Given the description of an element on the screen output the (x, y) to click on. 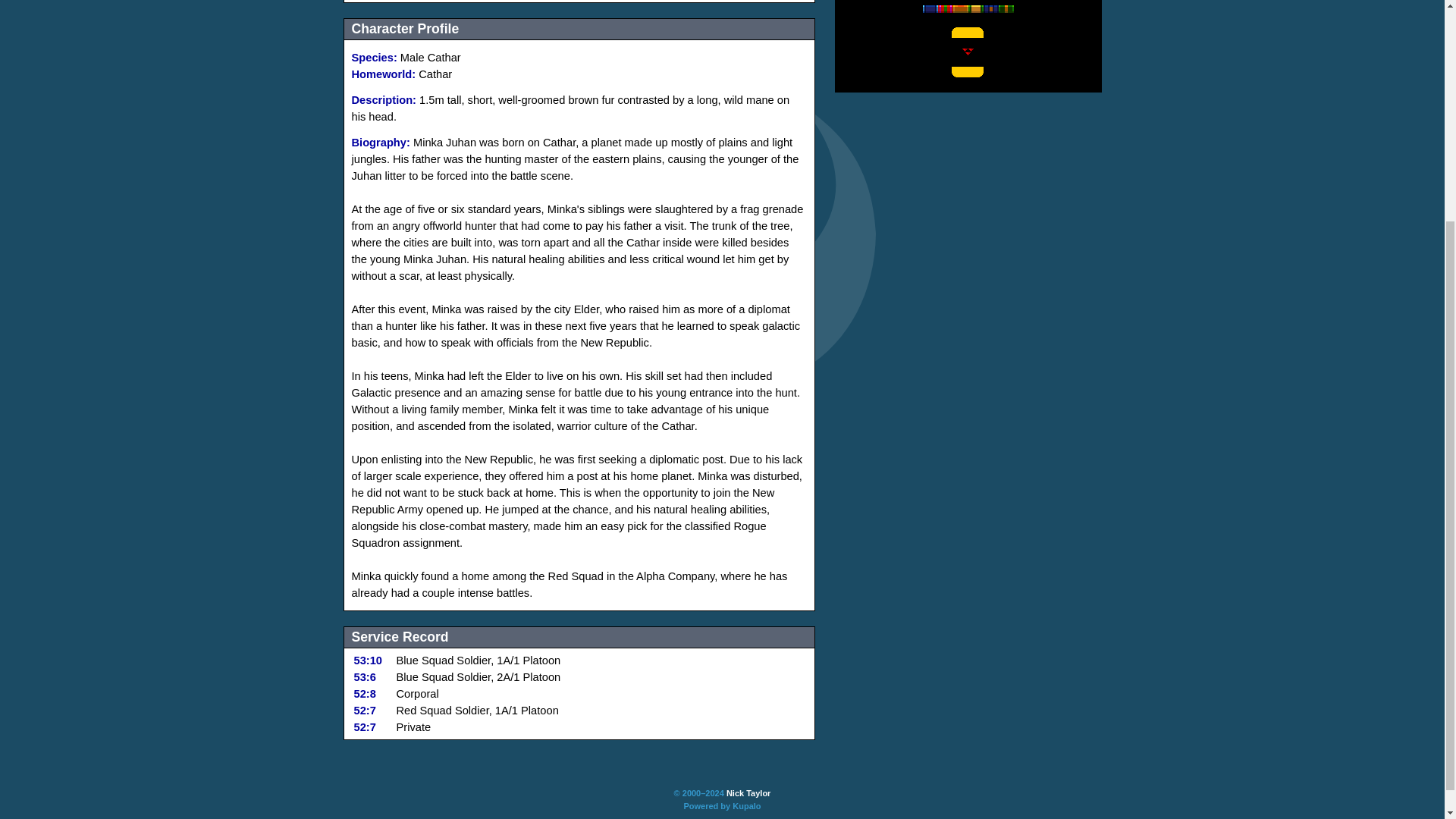
6 Commendations (944, 8)
Nick Taylor (748, 792)
6 Commendations (960, 8)
6 Commendations (929, 8)
6 Commendations (975, 8)
6 Commendations (1005, 8)
6 Commendations (989, 8)
